Given the description of an element on the screen output the (x, y) to click on. 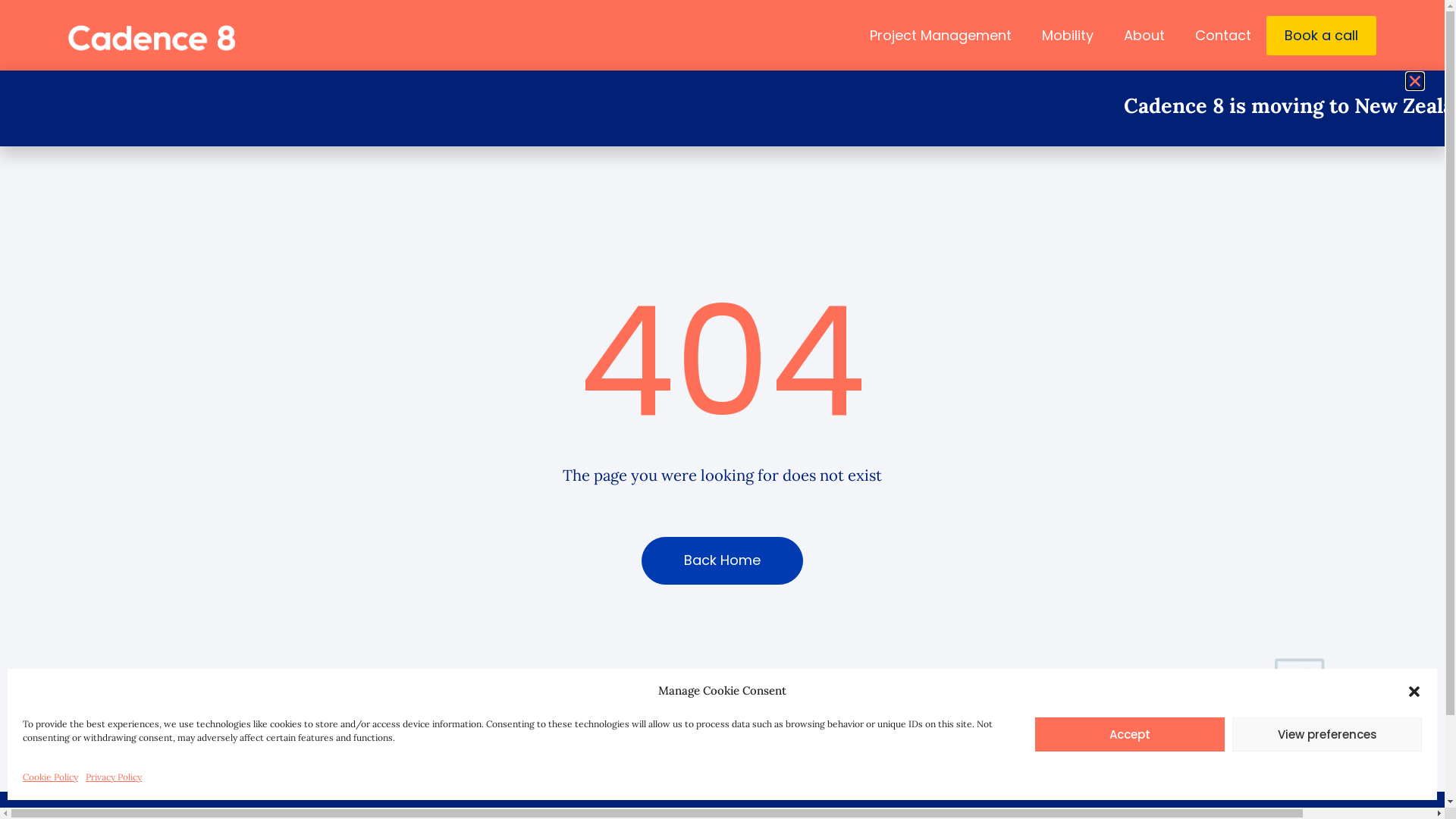
About Element type: text (1143, 35)
Book a call Element type: text (1321, 35)
Contact Element type: text (1222, 35)
View preferences Element type: text (1326, 734)
Mobility Element type: text (1067, 35)
Accept Element type: text (1129, 734)
Privacy Policy Element type: text (113, 777)
Back Home Element type: text (722, 560)
Project Management Element type: text (940, 35)
Cookie Policy Element type: text (50, 777)
